Given the description of an element on the screen output the (x, y) to click on. 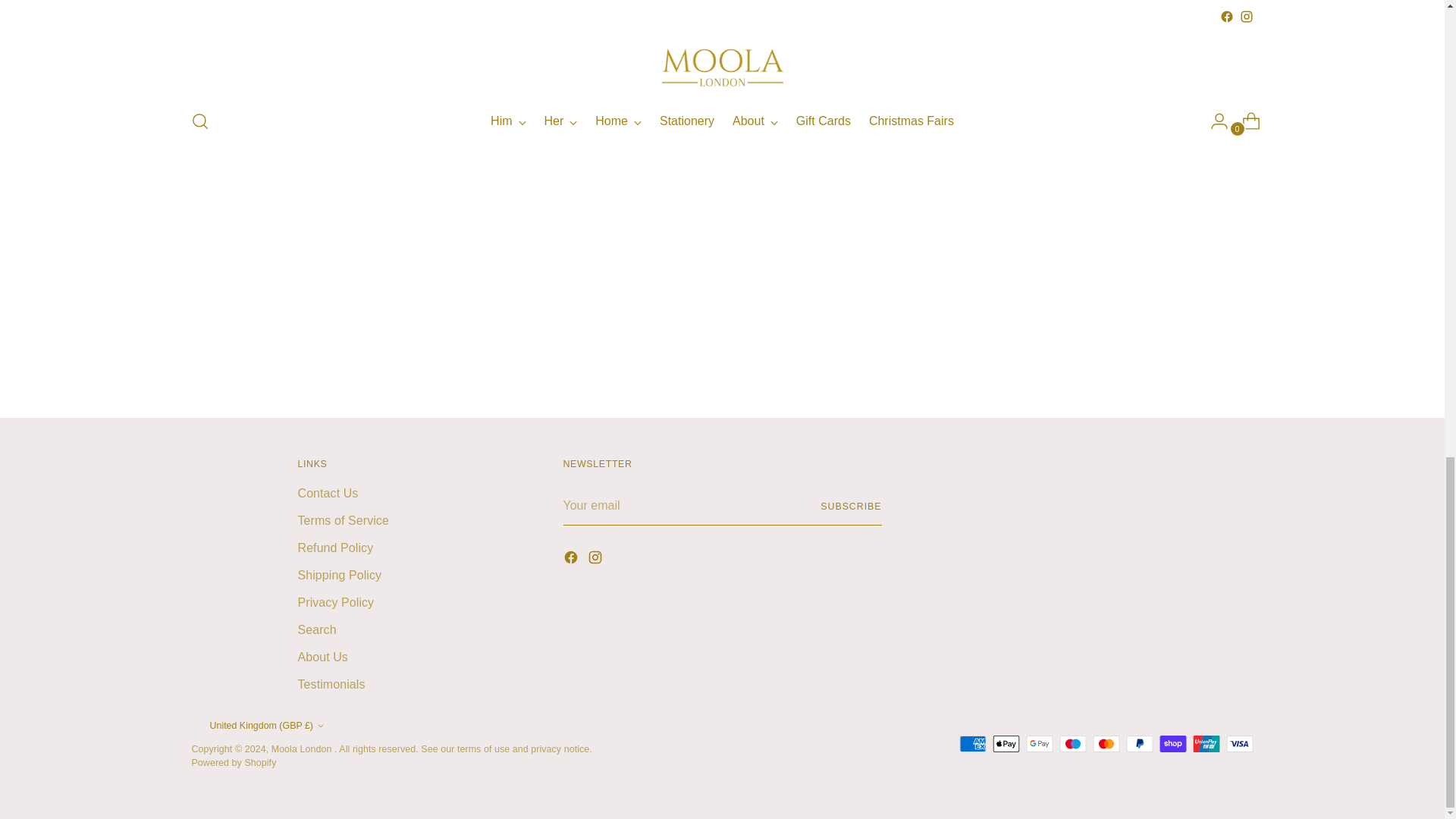
Moola London  on Instagram (595, 559)
